Given the description of an element on the screen output the (x, y) to click on. 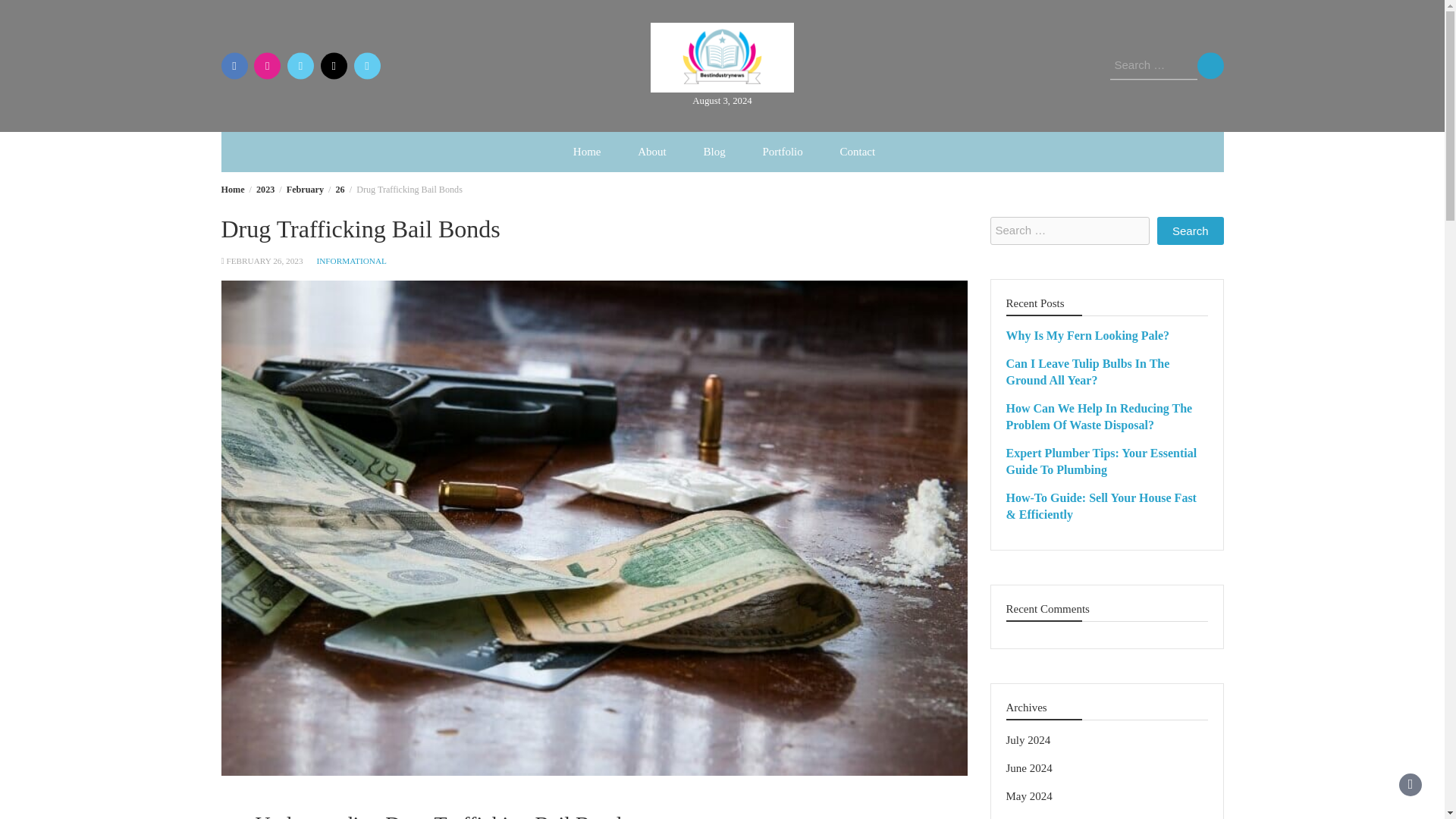
2023 (265, 189)
February (304, 189)
Search (1190, 230)
Home (232, 189)
Search (1209, 65)
Portfolio (781, 151)
INFORMATIONAL (351, 260)
Blog (713, 151)
Search (1190, 230)
Contact (858, 151)
Search (1209, 65)
Search (1209, 65)
About (652, 151)
Search for: (1152, 65)
FEBRUARY 26, 2023 (263, 260)
